Given the description of an element on the screen output the (x, y) to click on. 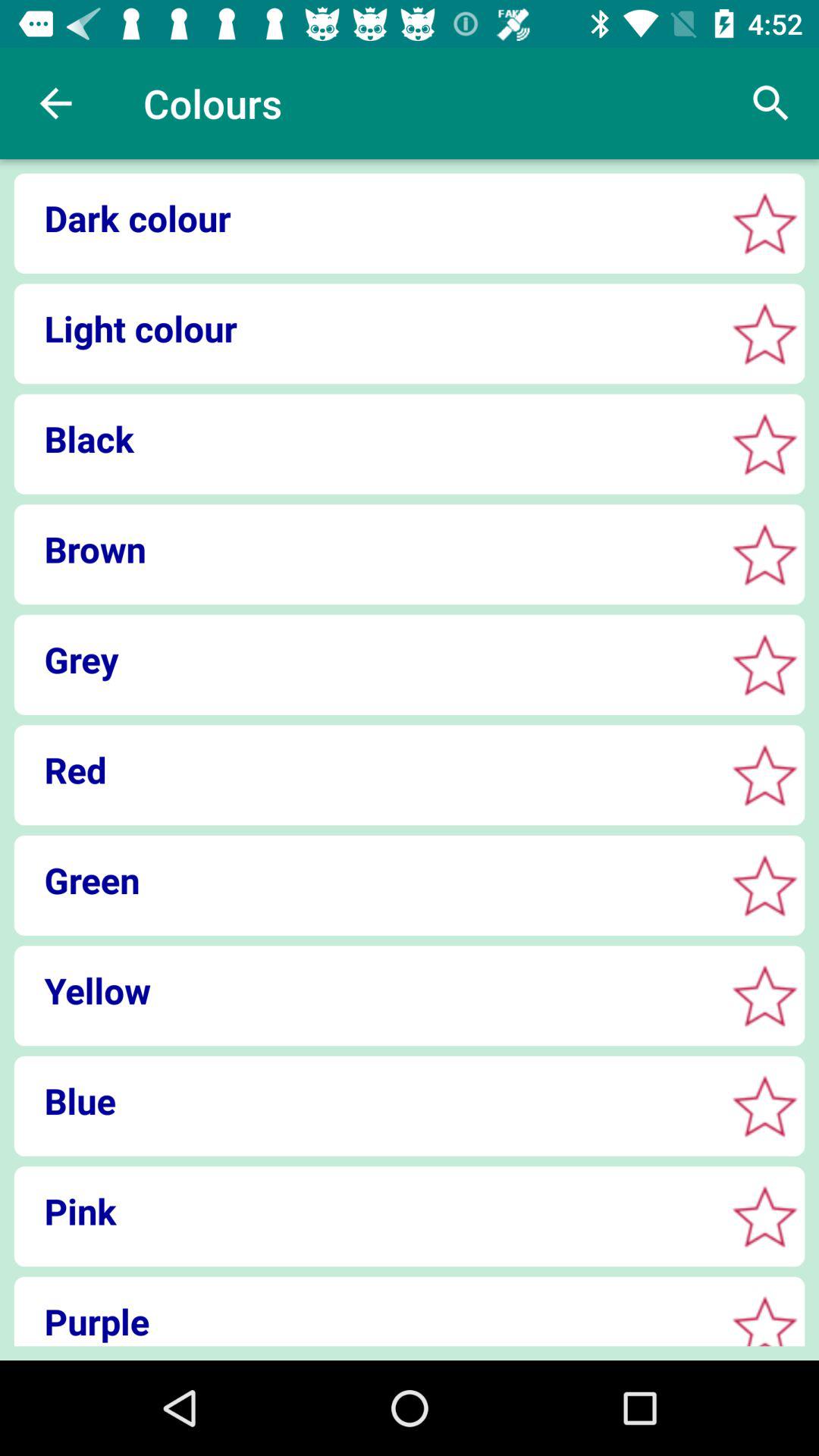
toggle blue (764, 1106)
